Given the description of an element on the screen output the (x, y) to click on. 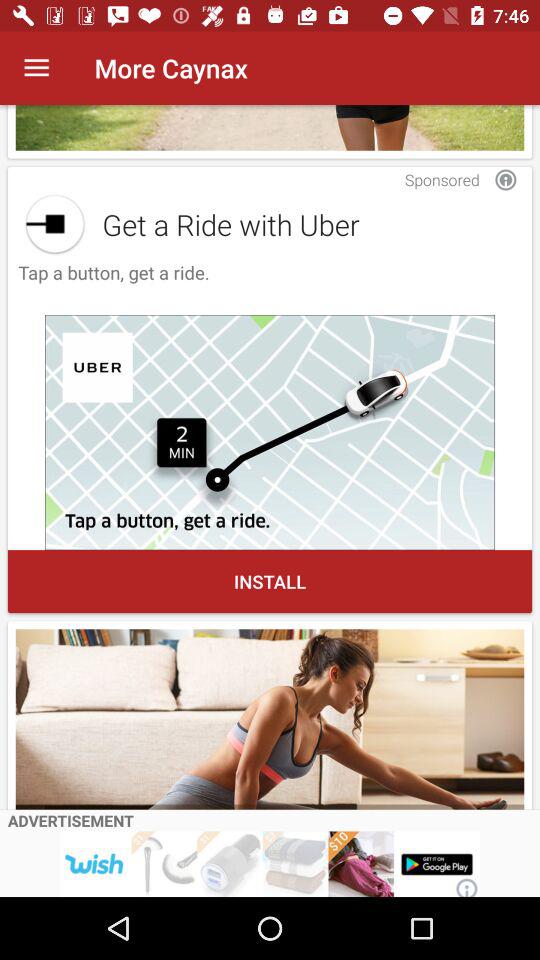
open this advertisement (270, 864)
